Given the description of an element on the screen output the (x, y) to click on. 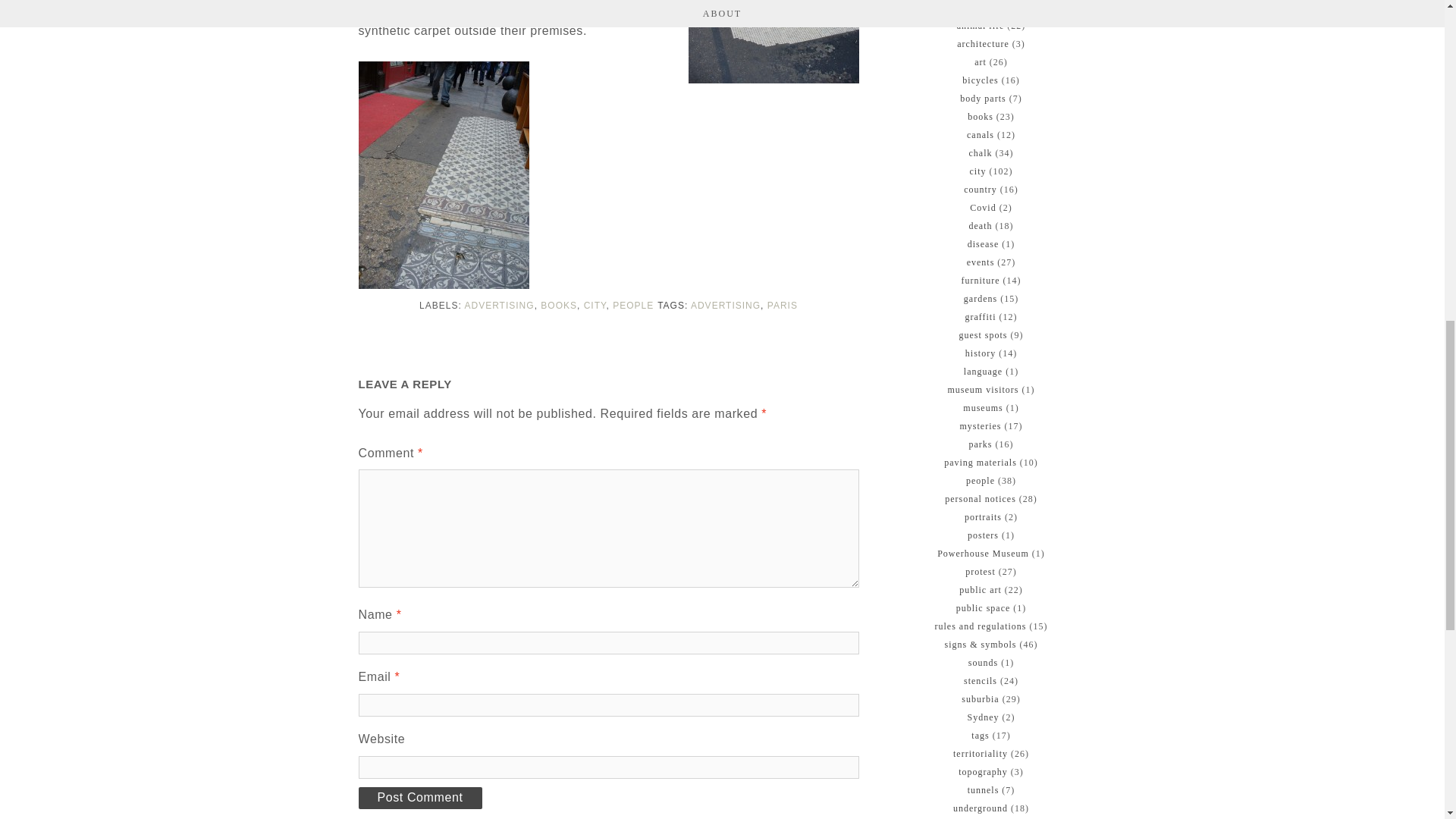
furniture (980, 279)
Covid (982, 206)
bicycles (979, 79)
animal life (980, 24)
architecture (982, 42)
graffiti (979, 316)
P1100157 (773, 41)
Post Comment (419, 798)
Post Comment (419, 798)
ADVERTISING (725, 305)
